Given the description of an element on the screen output the (x, y) to click on. 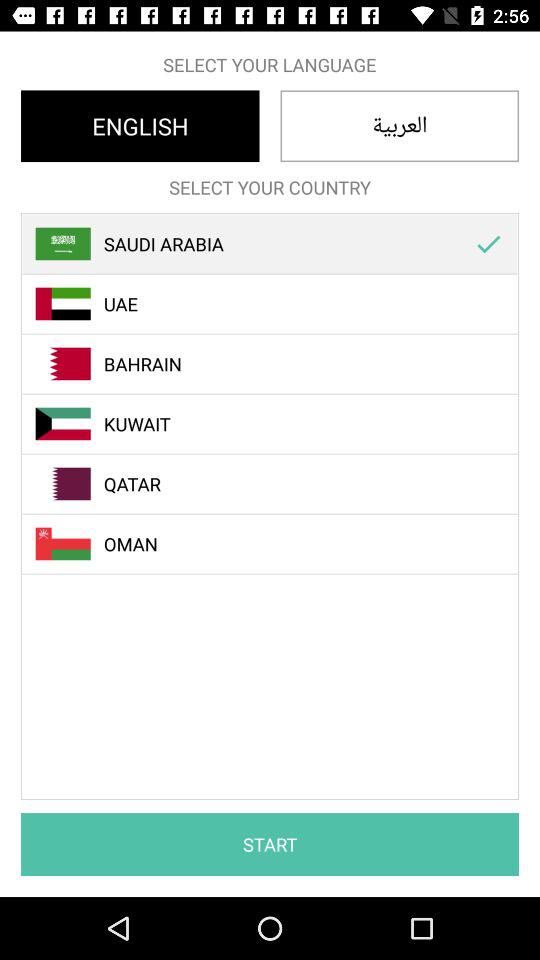
swipe to start icon (270, 844)
